Given the description of an element on the screen output the (x, y) to click on. 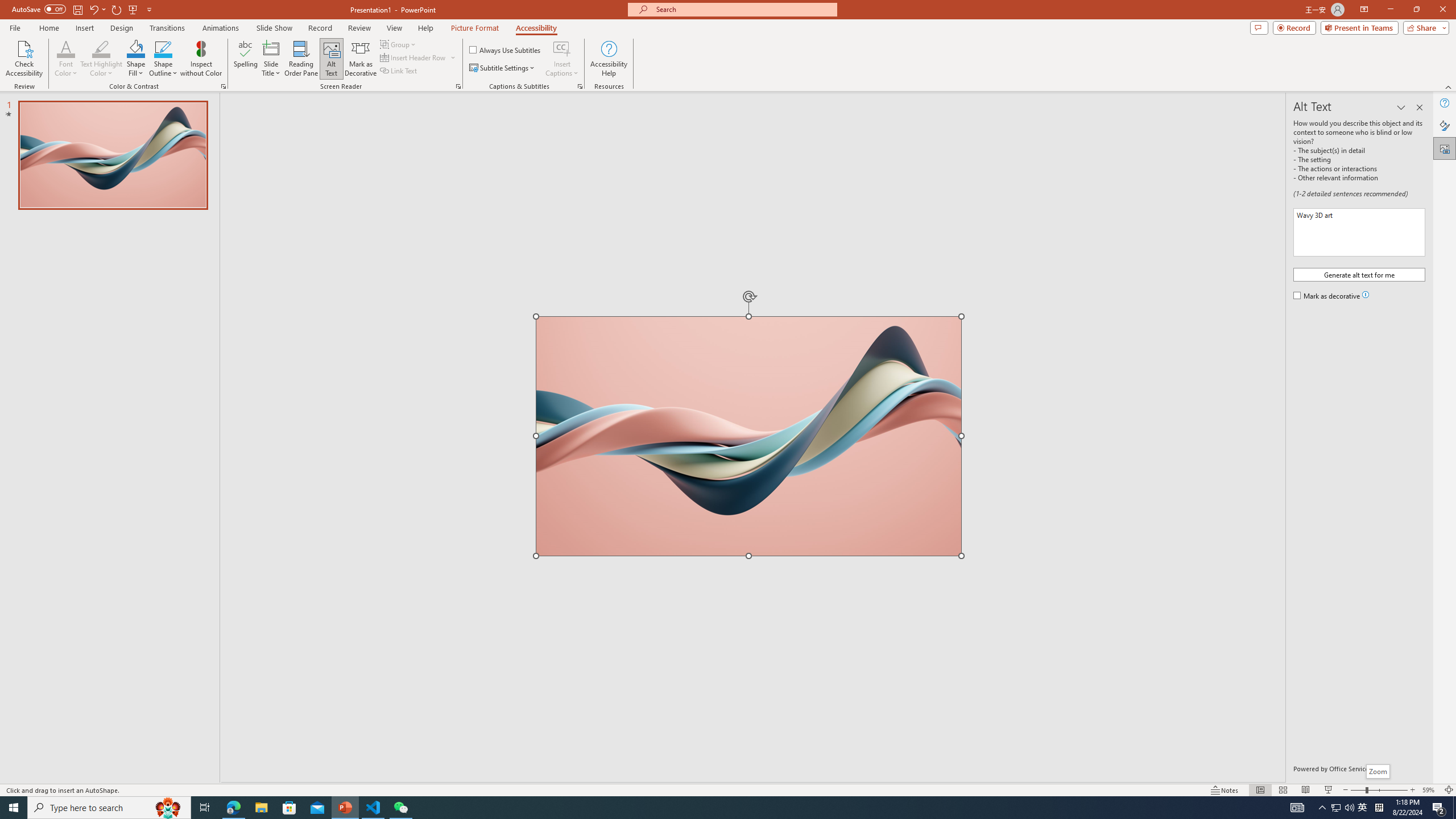
Color & Contrast (223, 85)
Link Text (399, 69)
